Given the description of an element on the screen output the (x, y) to click on. 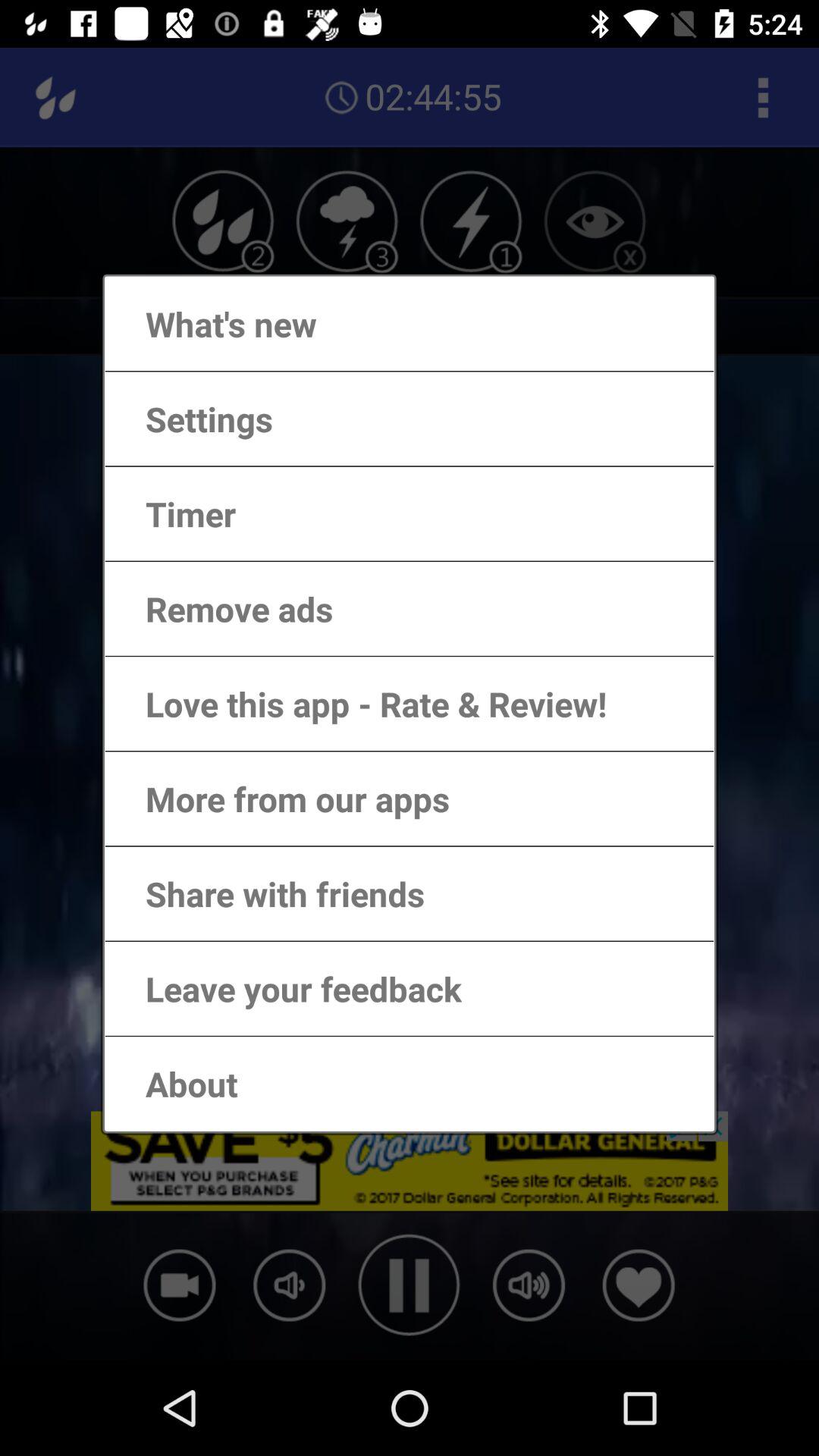
choose the item below share with friends app (288, 988)
